Given the description of an element on the screen output the (x, y) to click on. 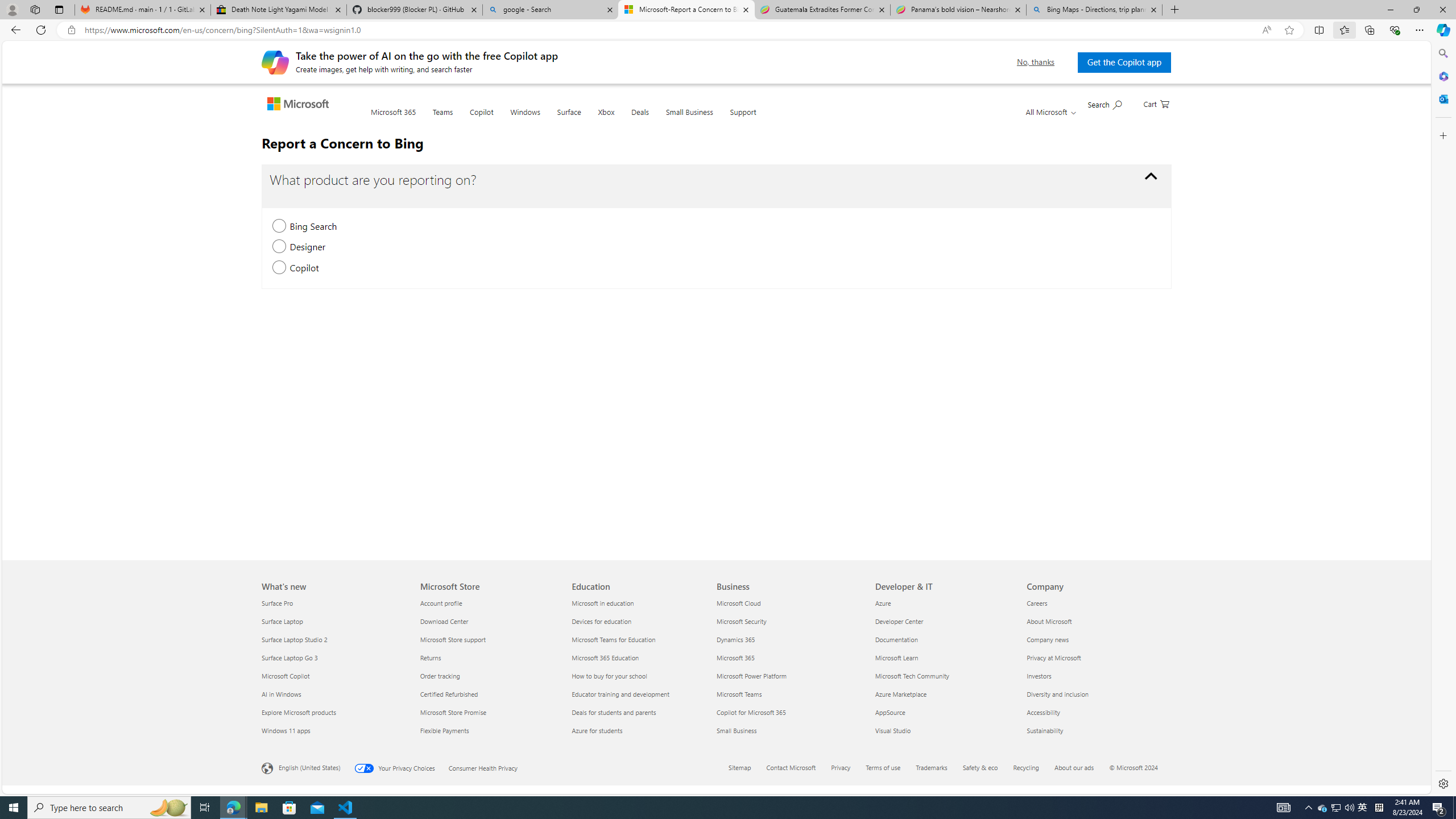
Bing Search, new section will be expanded (279, 226)
Trademarks (937, 768)
Microsoft 365 (392, 118)
Copilot (481, 118)
Teams (442, 118)
Accessibility Company (1042, 711)
Microsoft-Report a Concern to Bing (685, 9)
Privacy (840, 766)
Your Privacy Choices Opt-Out Icon Your Privacy Choices (400, 766)
Flexible Payments Microsoft Store (443, 729)
Azure Marketplace Developer & IT (901, 693)
About our ads (1074, 766)
